Given the description of an element on the screen output the (x, y) to click on. 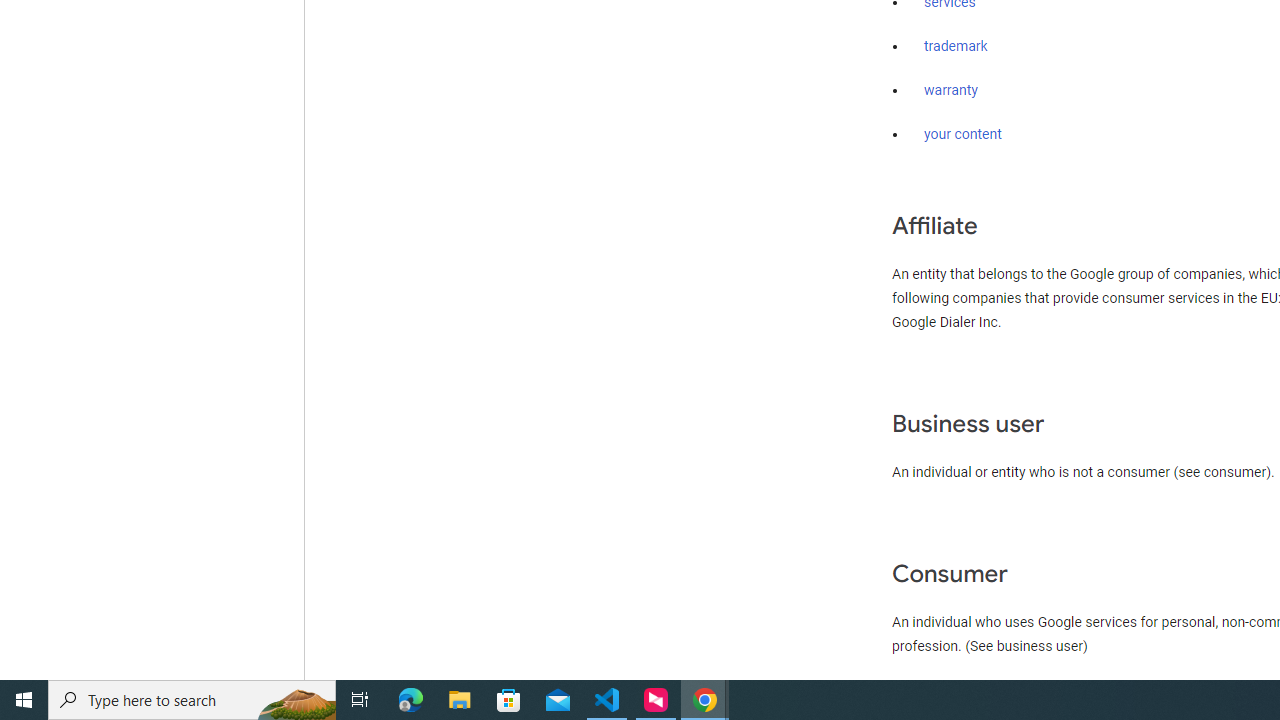
warranty (950, 91)
your content (963, 134)
trademark (956, 47)
